Given the description of an element on the screen output the (x, y) to click on. 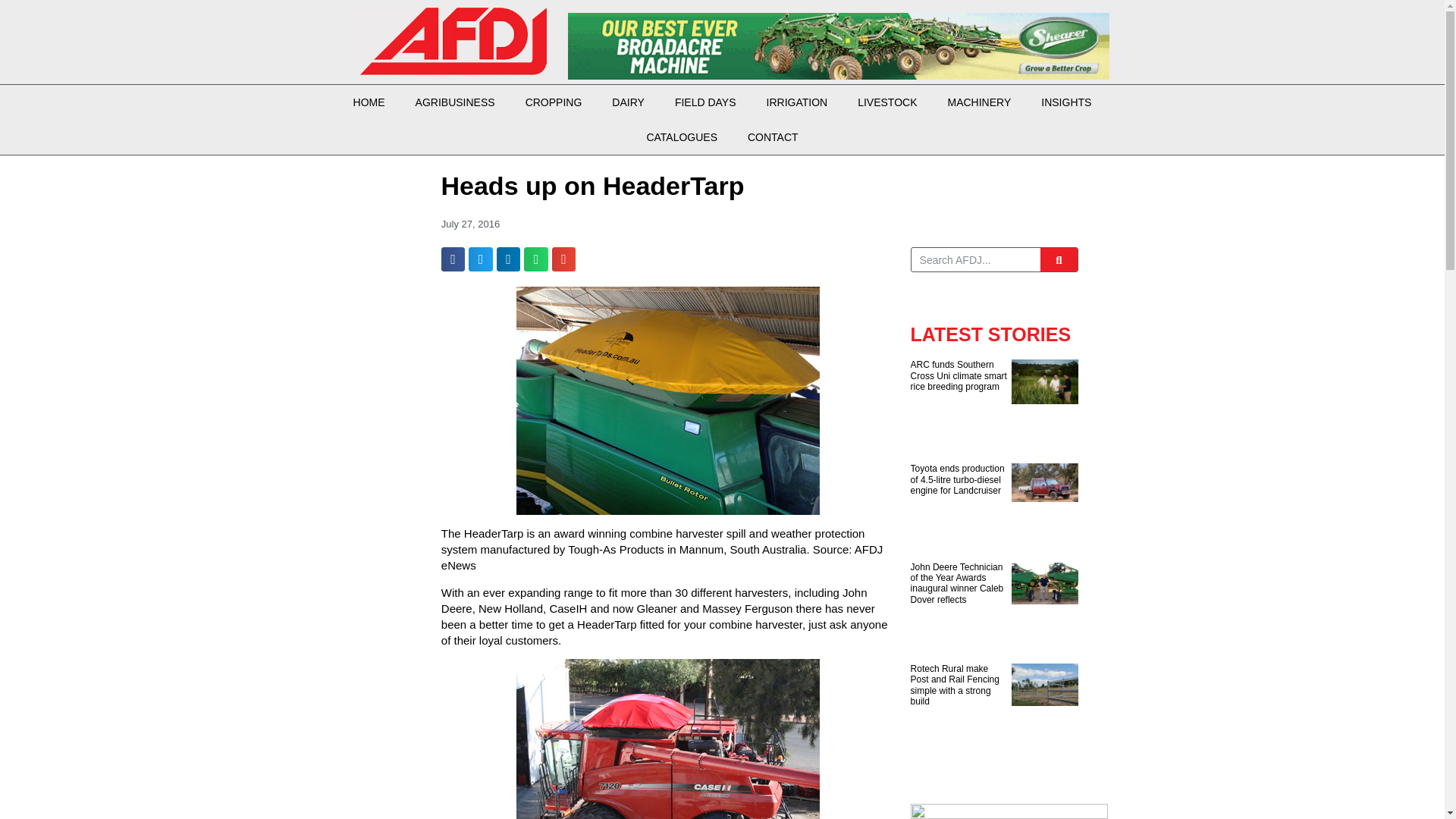
IRRIGATION (797, 102)
INSIGHTS (1066, 102)
MACHINERY (979, 102)
CATALOGUES (681, 136)
HOME (368, 102)
FIELD DAYS (705, 102)
AGRIBUSINESS (455, 102)
DAIRY (627, 102)
LIVESTOCK (887, 102)
CROPPING (553, 102)
CONTACT (772, 136)
